Given the description of an element on the screen output the (x, y) to click on. 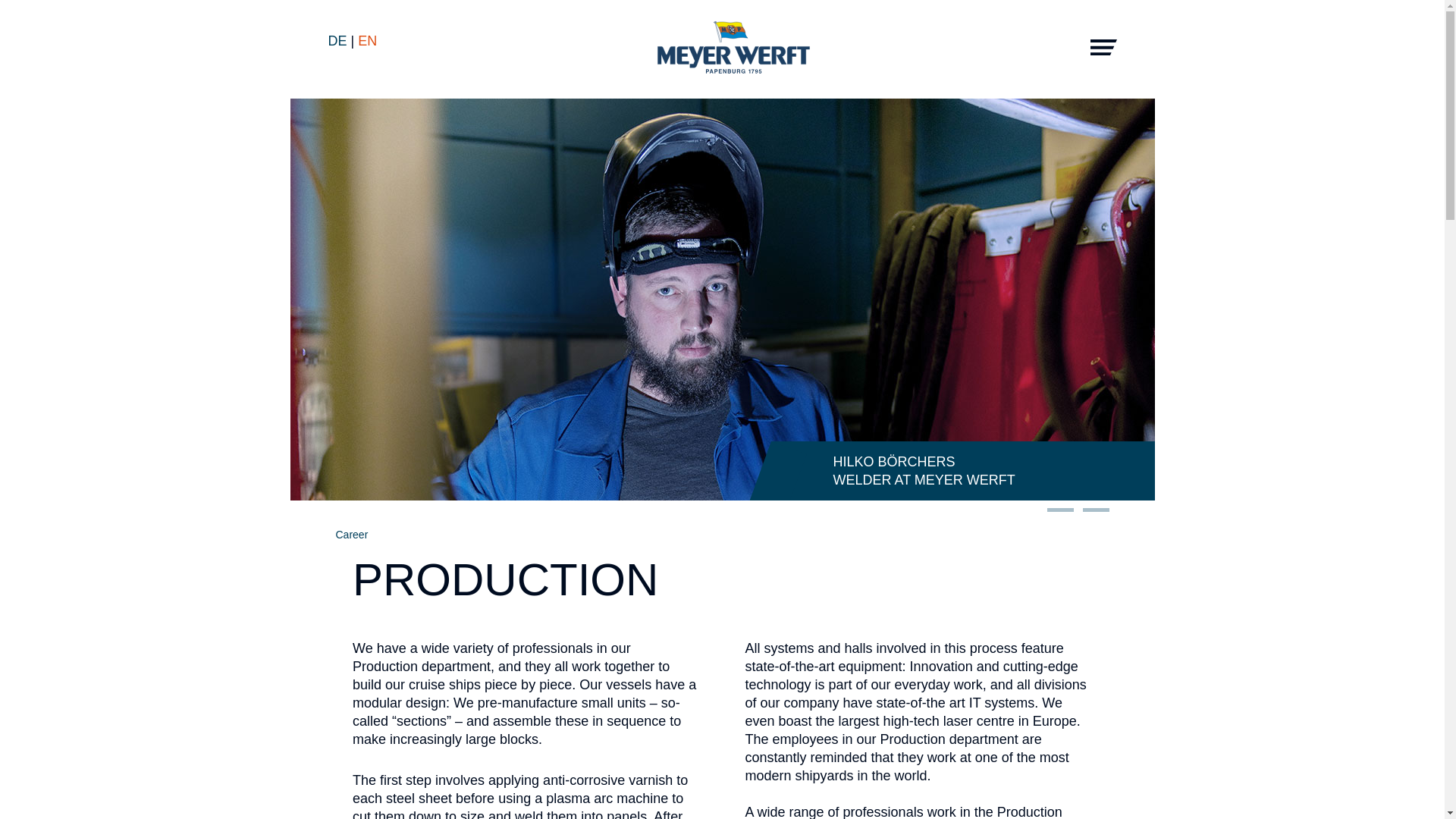
DE (338, 40)
Career (351, 534)
EN (367, 40)
